Given the description of an element on the screen output the (x, y) to click on. 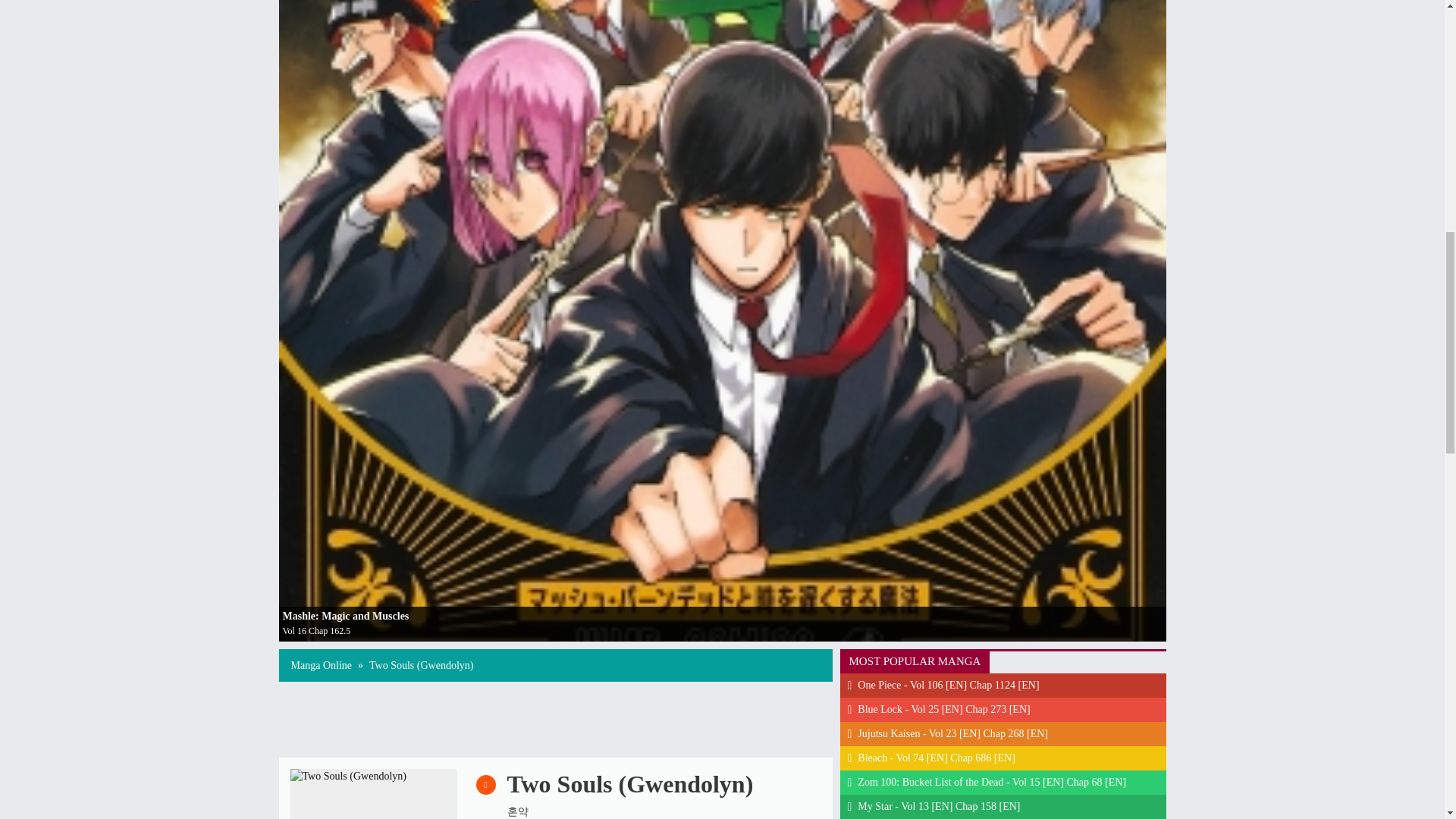
Mashle: Magic and Muscles (345, 615)
Blue Lock (1007, 709)
Bleach (1007, 758)
Manga Online (321, 665)
Mashle: Magic and Muscles (345, 615)
Jujutsu Kaisen (1007, 733)
One Piece (1007, 685)
